Given the description of an element on the screen output the (x, y) to click on. 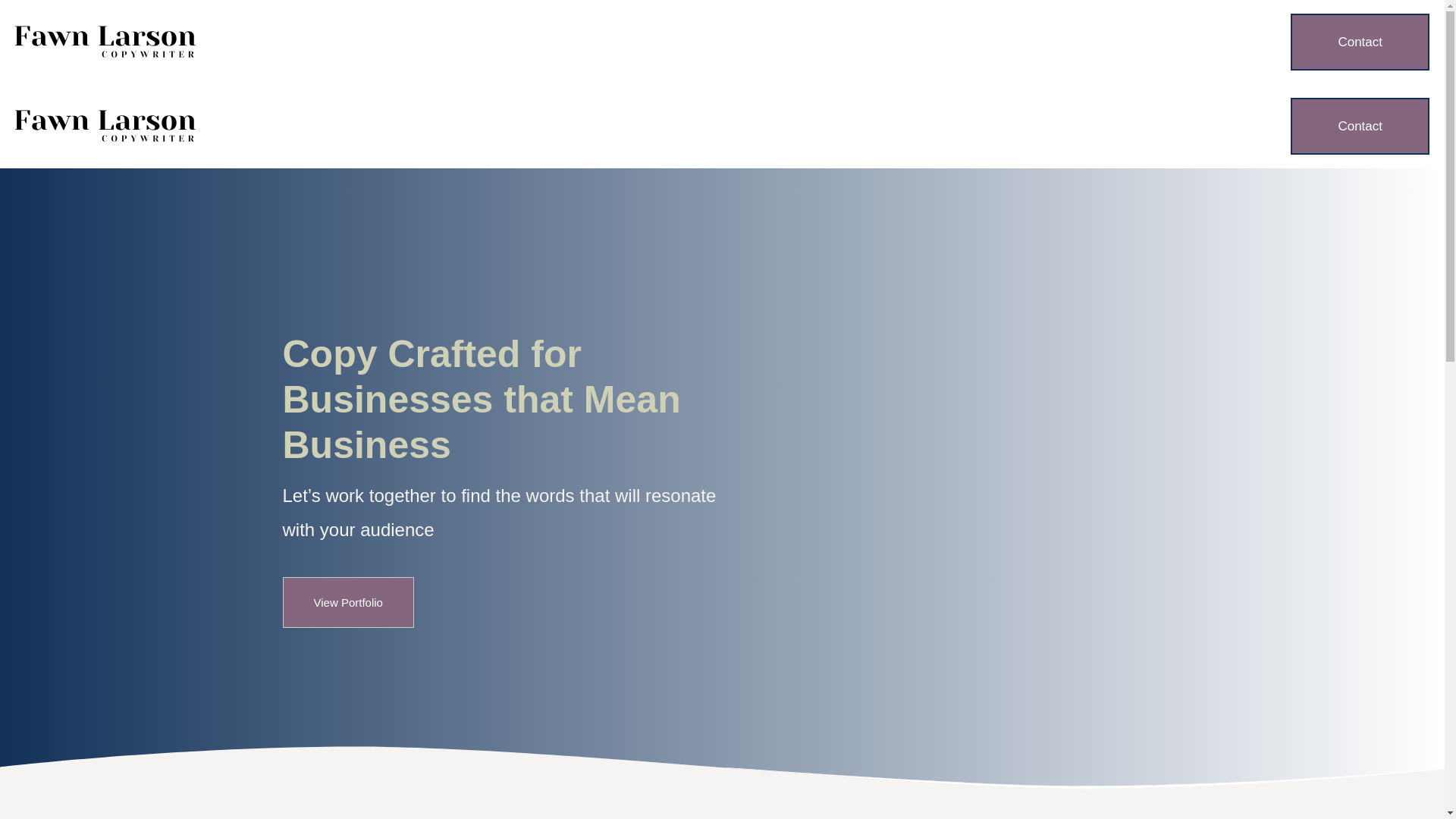
Contact (1359, 126)
Contact (1359, 42)
Click Here (347, 602)
View Portfolio (347, 602)
